Given the description of an element on the screen output the (x, y) to click on. 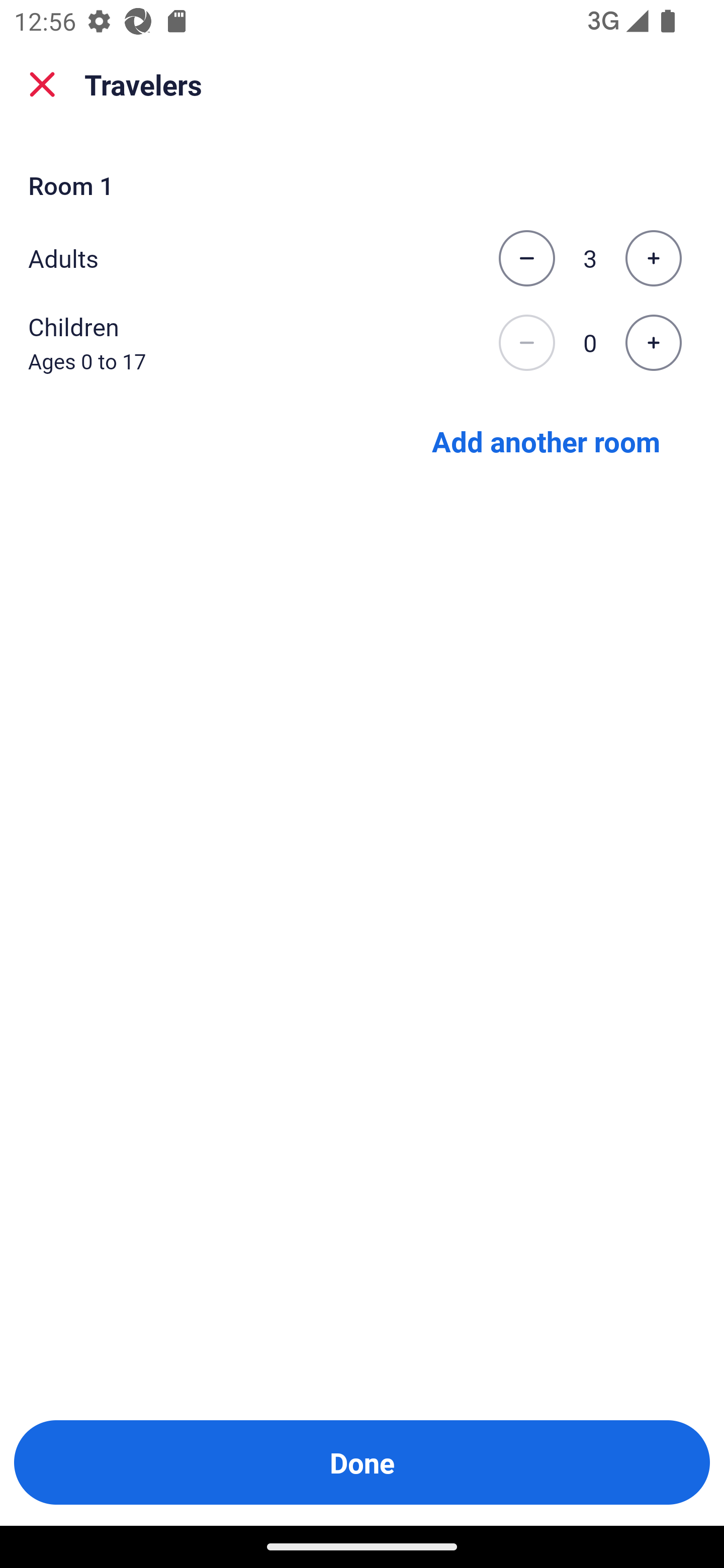
close (42, 84)
Decrease the number of adults (526, 258)
Increase the number of adults (653, 258)
Decrease the number of children (526, 343)
Increase the number of children (653, 343)
Add another room (545, 440)
Done (361, 1462)
